Given the description of an element on the screen output the (x, y) to click on. 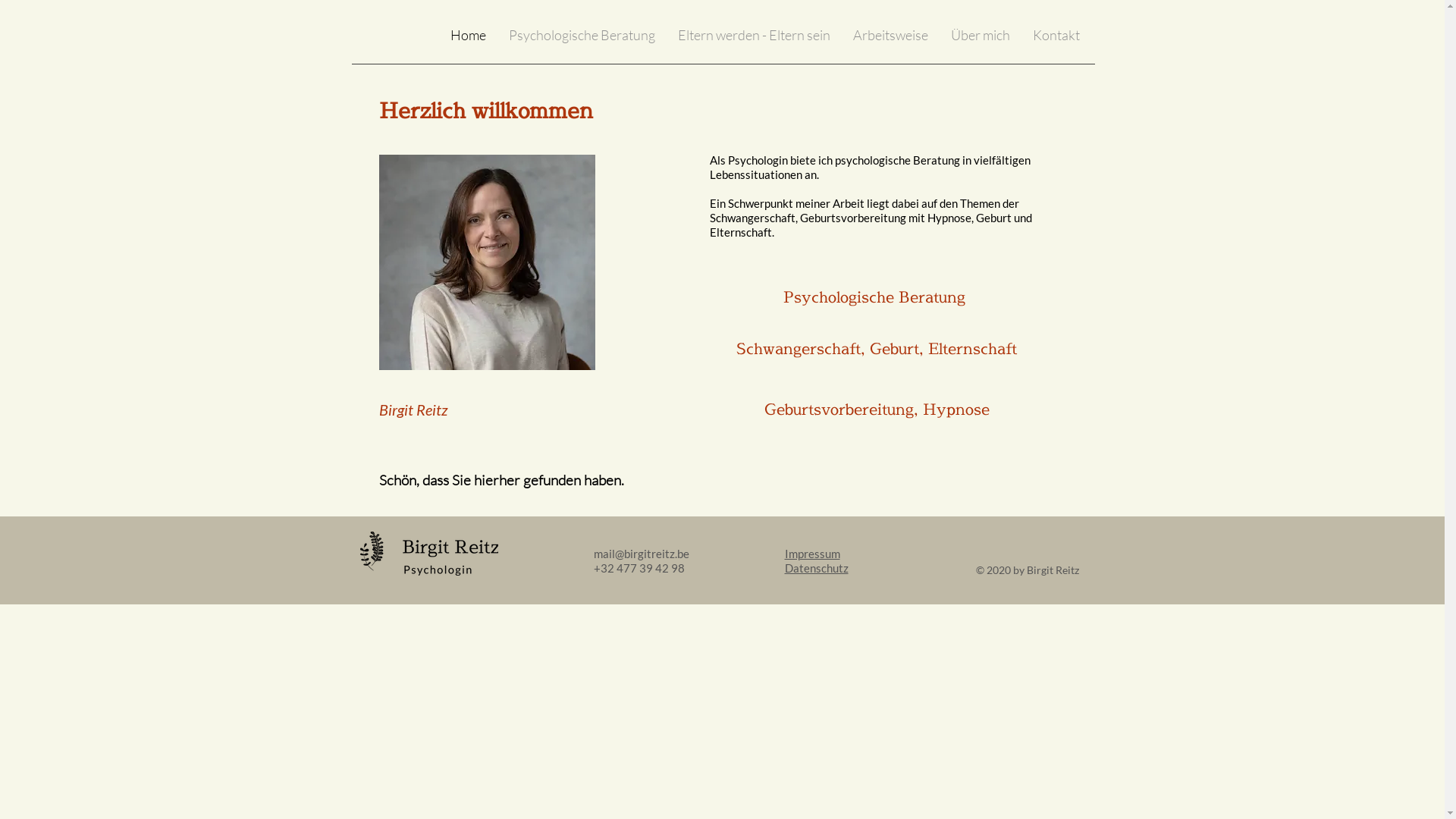
Psychologische Beratung Element type: text (581, 34)
Psychologische Beratung Element type: text (874, 297)
mail@birgitreitz.be Element type: text (640, 553)
Datenschutz Element type: text (815, 568)
Home Element type: text (467, 34)
Arbeitsweise Element type: text (890, 34)
Eltern werden - Eltern sein Element type: text (752, 34)
Geburtsvorbereitung, Hypnose Element type: text (876, 409)
Kontakt Element type: text (1055, 34)
Impressum Element type: text (811, 553)
Schwangerschaft, Geburt, Elternschaft Element type: text (876, 348)
